Given the description of an element on the screen output the (x, y) to click on. 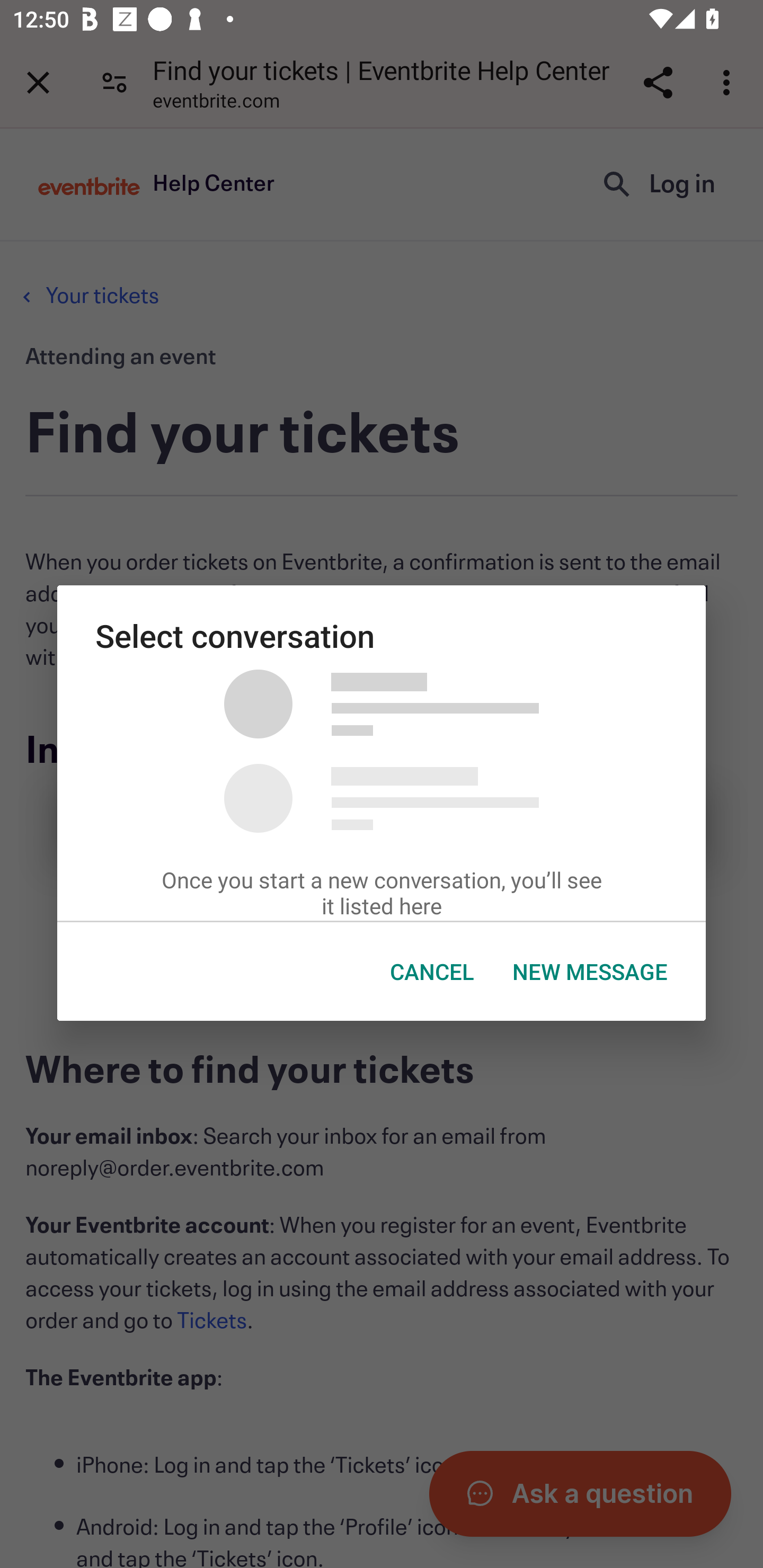
CANCEL (431, 971)
NEW MESSAGE (589, 971)
